Given the description of an element on the screen output the (x, y) to click on. 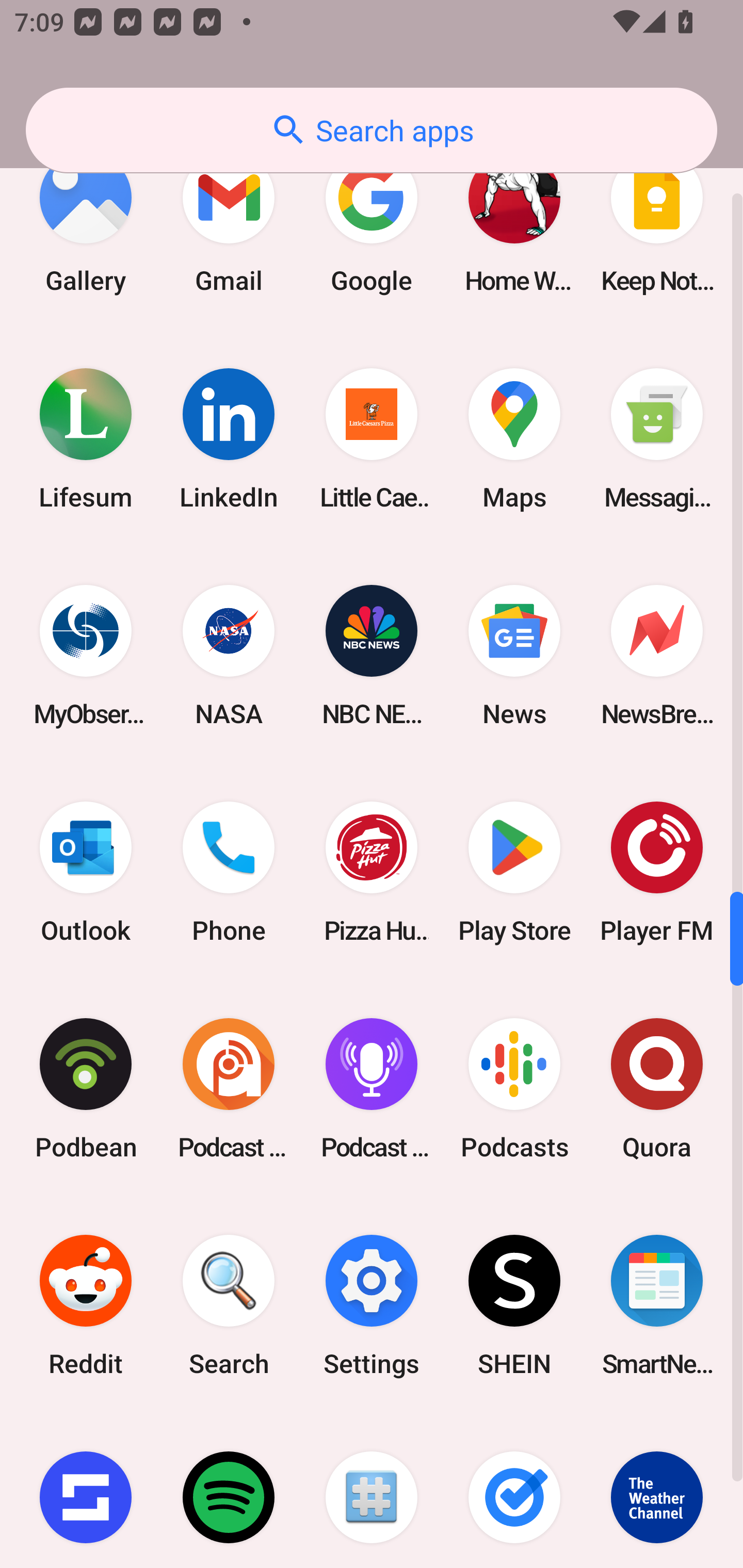
  Search apps (371, 130)
Gallery (85, 222)
Gmail (228, 222)
Google (371, 222)
Home Workout (514, 222)
Keep Notes (656, 222)
Lifesum (85, 438)
LinkedIn (228, 438)
Little Caesars Pizza (371, 438)
Maps (514, 438)
Messaging (656, 438)
MyObservatory (85, 655)
NASA (228, 655)
NBC NEWS (371, 655)
News (514, 655)
NewsBreak (656, 655)
Outlook (85, 871)
Phone (228, 871)
Pizza Hut HK & Macau (371, 871)
Play Store (514, 871)
Player FM (656, 871)
Podbean (85, 1088)
Podcast Addict (228, 1088)
Podcast Player (371, 1088)
Podcasts (514, 1088)
Quora (656, 1088)
Reddit (85, 1305)
Search (228, 1305)
Settings (371, 1305)
SHEIN (514, 1305)
SmartNews (656, 1305)
Sofascore (85, 1491)
Spotify (228, 1491)
Superuser (371, 1491)
Tasks (514, 1491)
The Weather Channel (656, 1491)
